Given the description of an element on the screen output the (x, y) to click on. 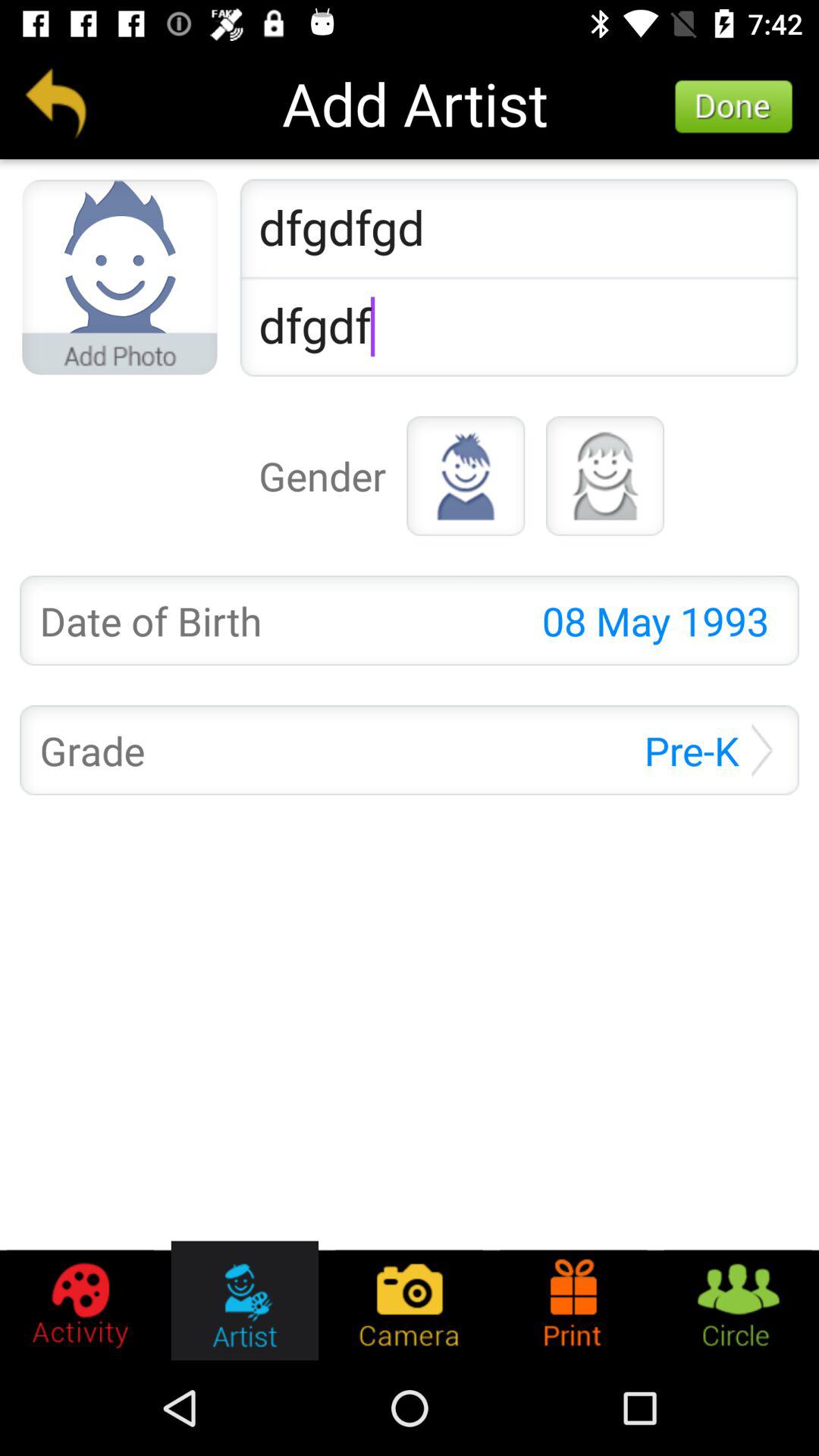
tap the item above the dfgdfgd (734, 107)
